Given the description of an element on the screen output the (x, y) to click on. 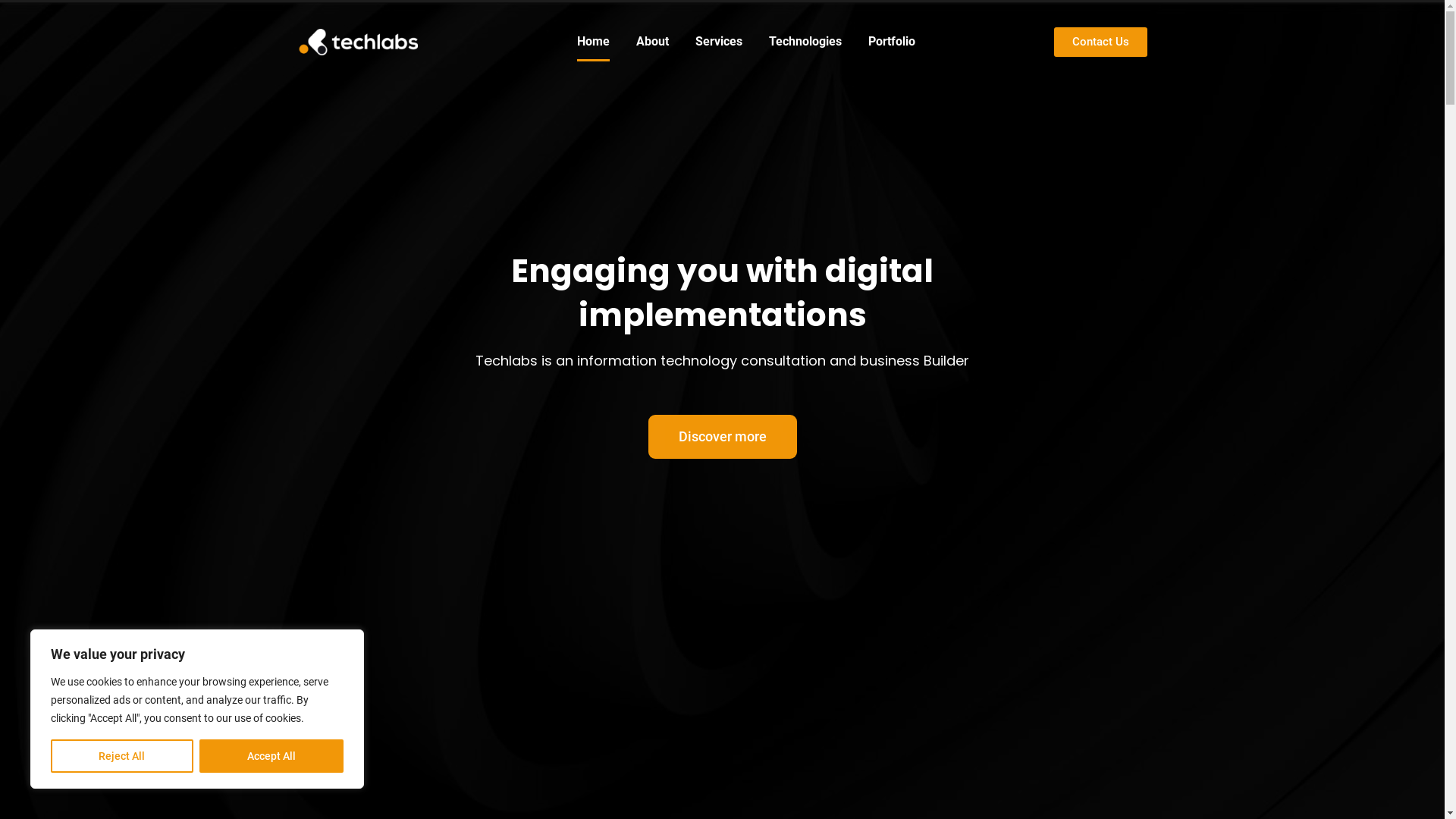
Home Element type: text (593, 41)
Reject All Element type: text (121, 755)
Portfolio Element type: text (891, 41)
Technologies Element type: text (804, 41)
About Element type: text (652, 41)
Discover more Element type: text (721, 436)
Contact Us Element type: text (1100, 41)
Services Element type: text (718, 41)
Accept All Element type: text (270, 755)
